Given the description of an element on the screen output the (x, y) to click on. 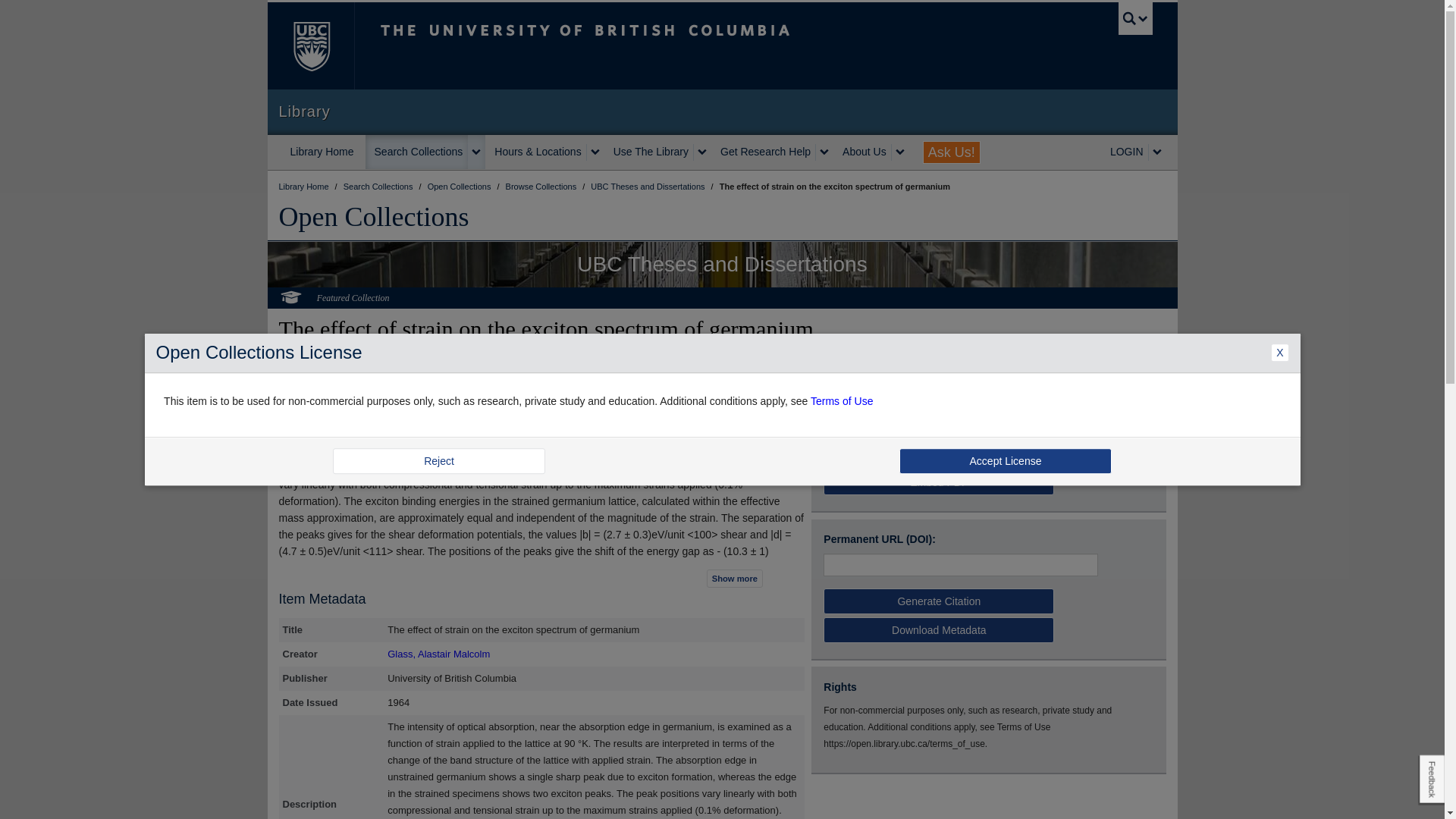
Open Collections (460, 185)
Search Collections (416, 151)
The University of British Columbia (309, 45)
UBC Library (305, 185)
open file (848, 414)
The University of British Columbia (635, 45)
Browse Collections (542, 185)
Library Home (322, 151)
Open Collections (373, 216)
UBC Search (1135, 18)
Library (722, 111)
Search Collections (378, 185)
